Given the description of an element on the screen output the (x, y) to click on. 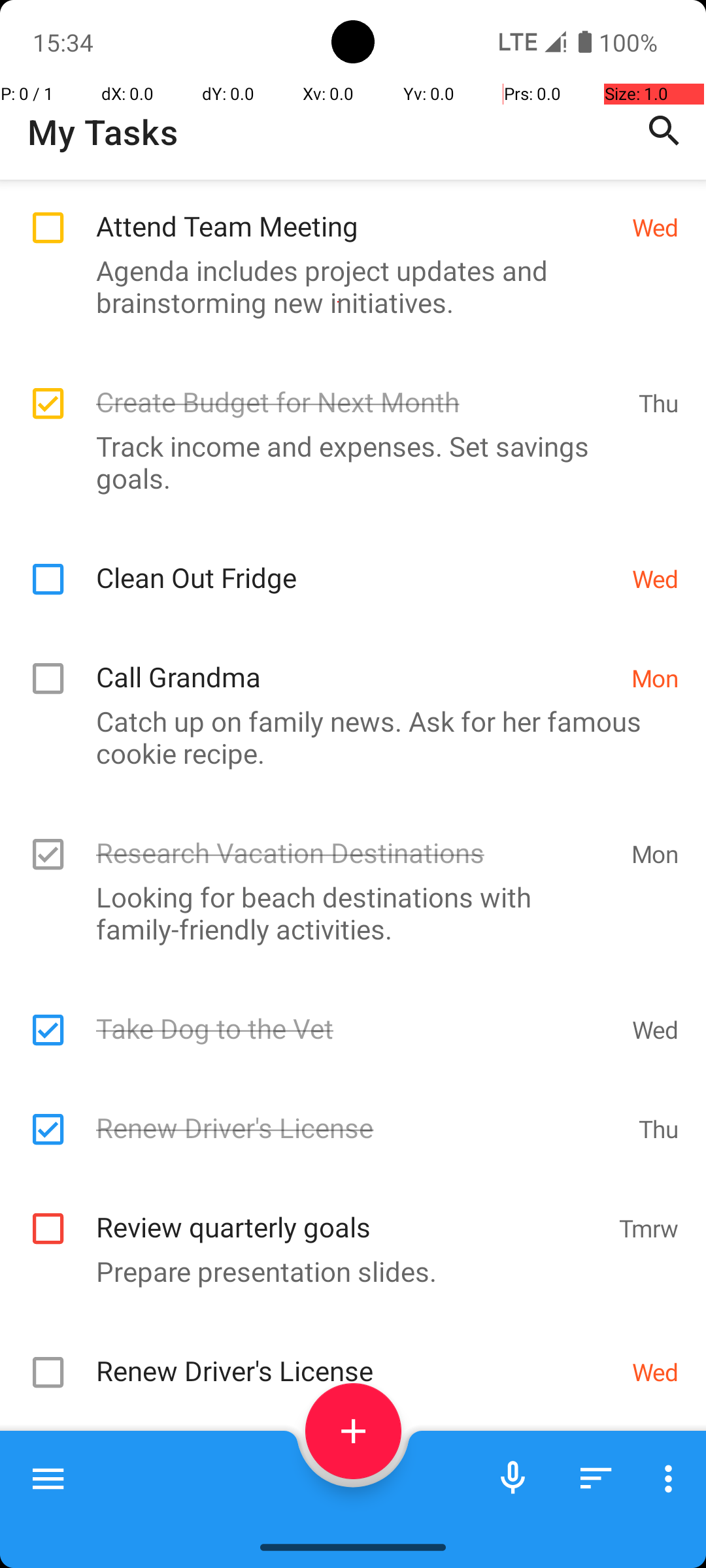
Review quarterly goals Element type: android.widget.TextView (350, 1212)
Prepare presentation slides. Element type: android.widget.TextView (346, 1270)
